Given the description of an element on the screen output the (x, y) to click on. 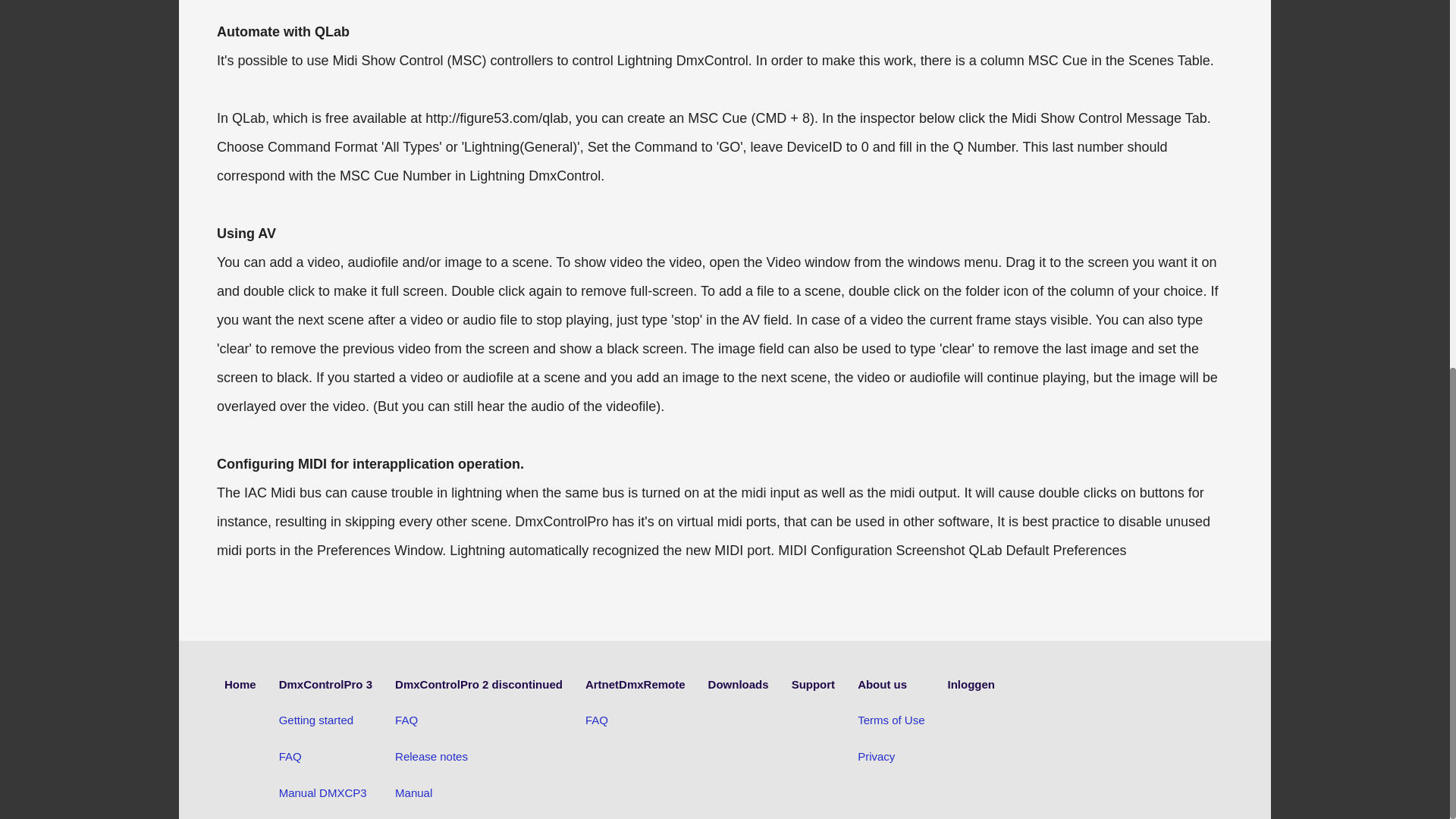
Manual DMXCP3 (325, 792)
Release notes (478, 756)
Release notes (478, 756)
FAQ (325, 756)
FAQ (325, 756)
Lightning DmxControl for Mac and Artnet Remote for iOS (240, 684)
About us (890, 684)
FAQ (635, 719)
Privacy (890, 756)
Manual DMXCP3 (325, 792)
Support (813, 684)
Downloads (737, 684)
ArtnetDmxRemote (635, 684)
Manual (478, 792)
FAQ (478, 719)
